Given the description of an element on the screen output the (x, y) to click on. 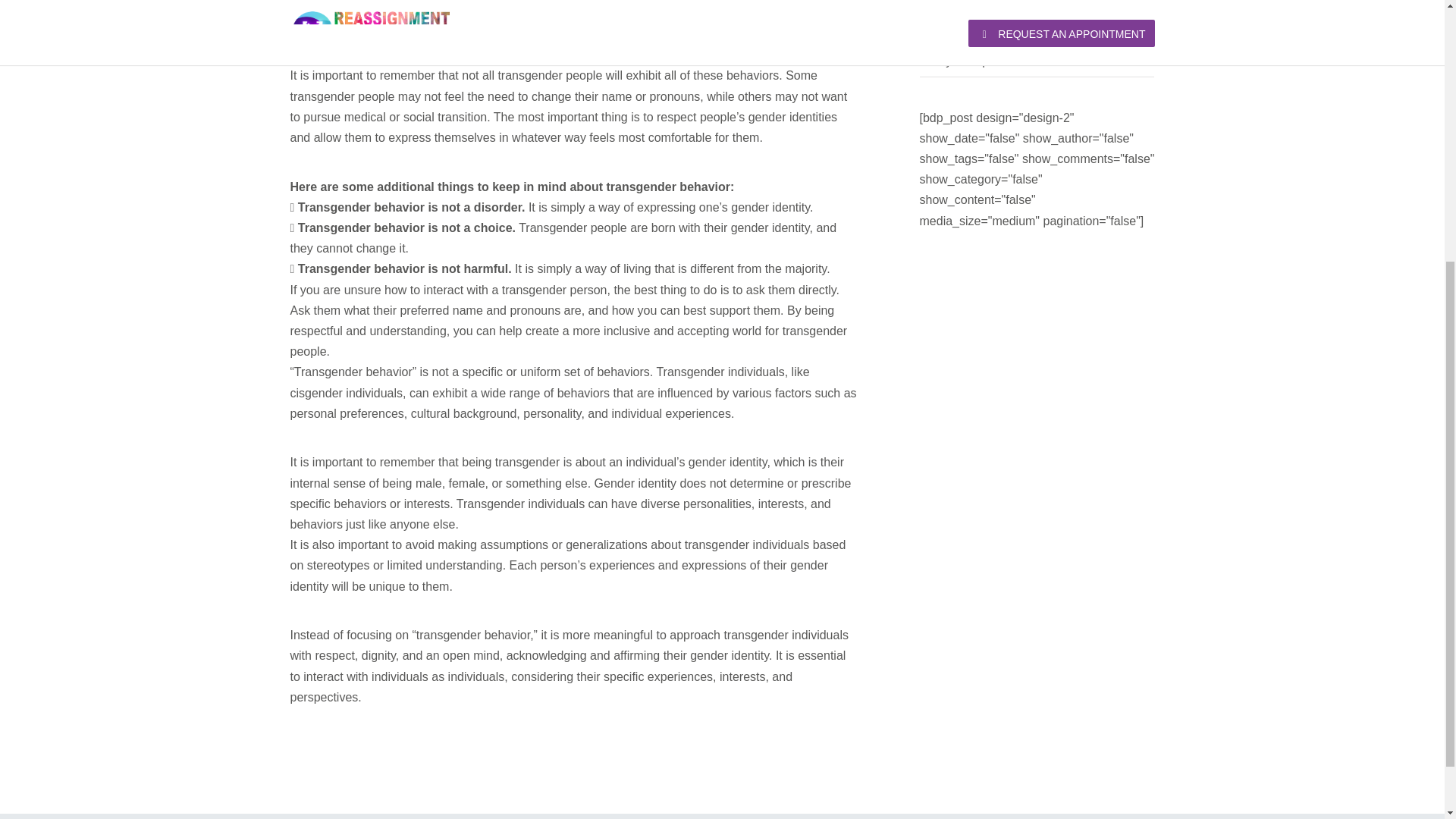
Ovary transplant to male (984, 60)
Submit (486, 118)
Gender transition surgery male to female (1028, 2)
Transgender process from female to male (1030, 29)
